Given the description of an element on the screen output the (x, y) to click on. 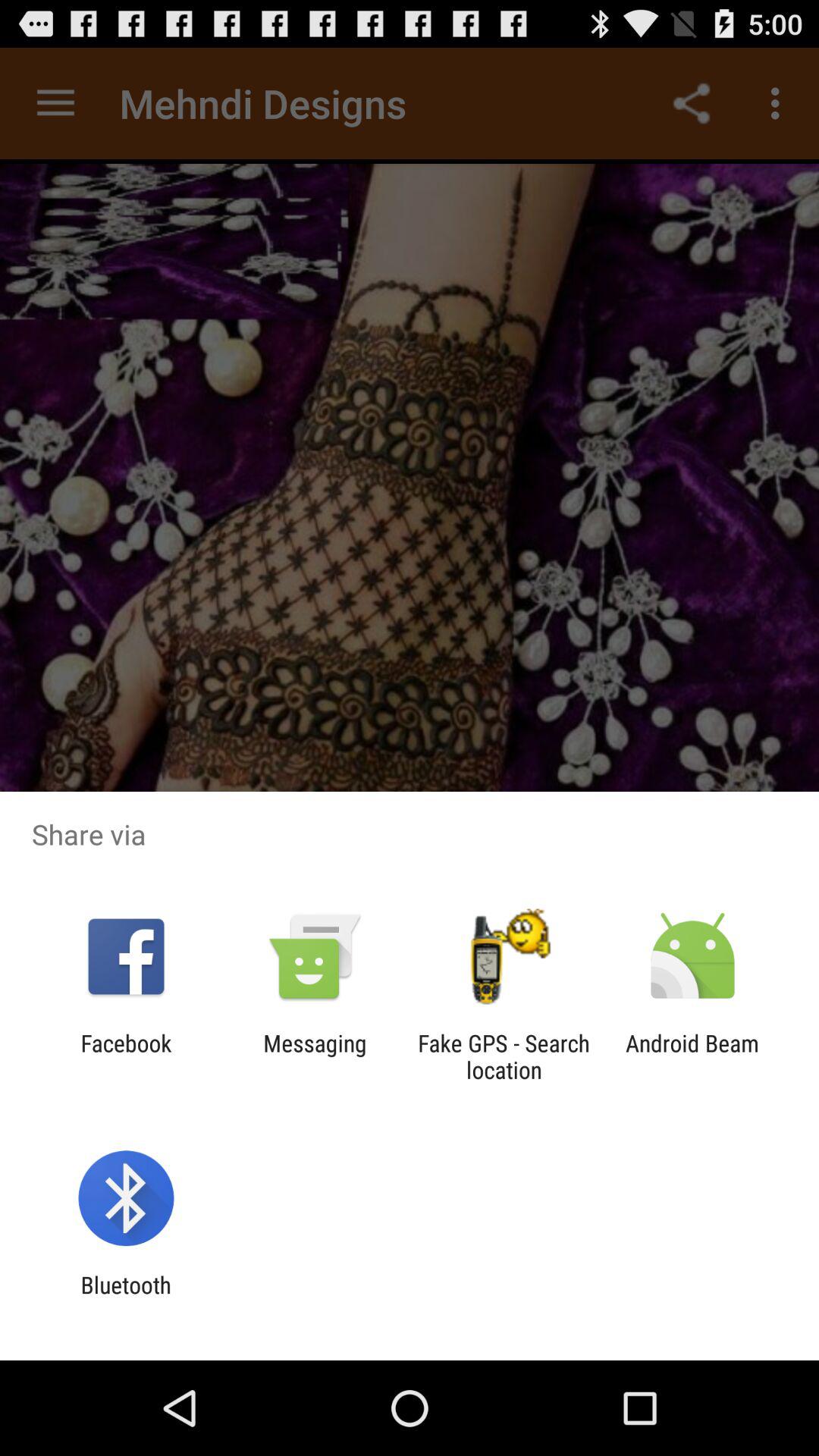
turn on the android beam at the bottom right corner (692, 1056)
